Given the description of an element on the screen output the (x, y) to click on. 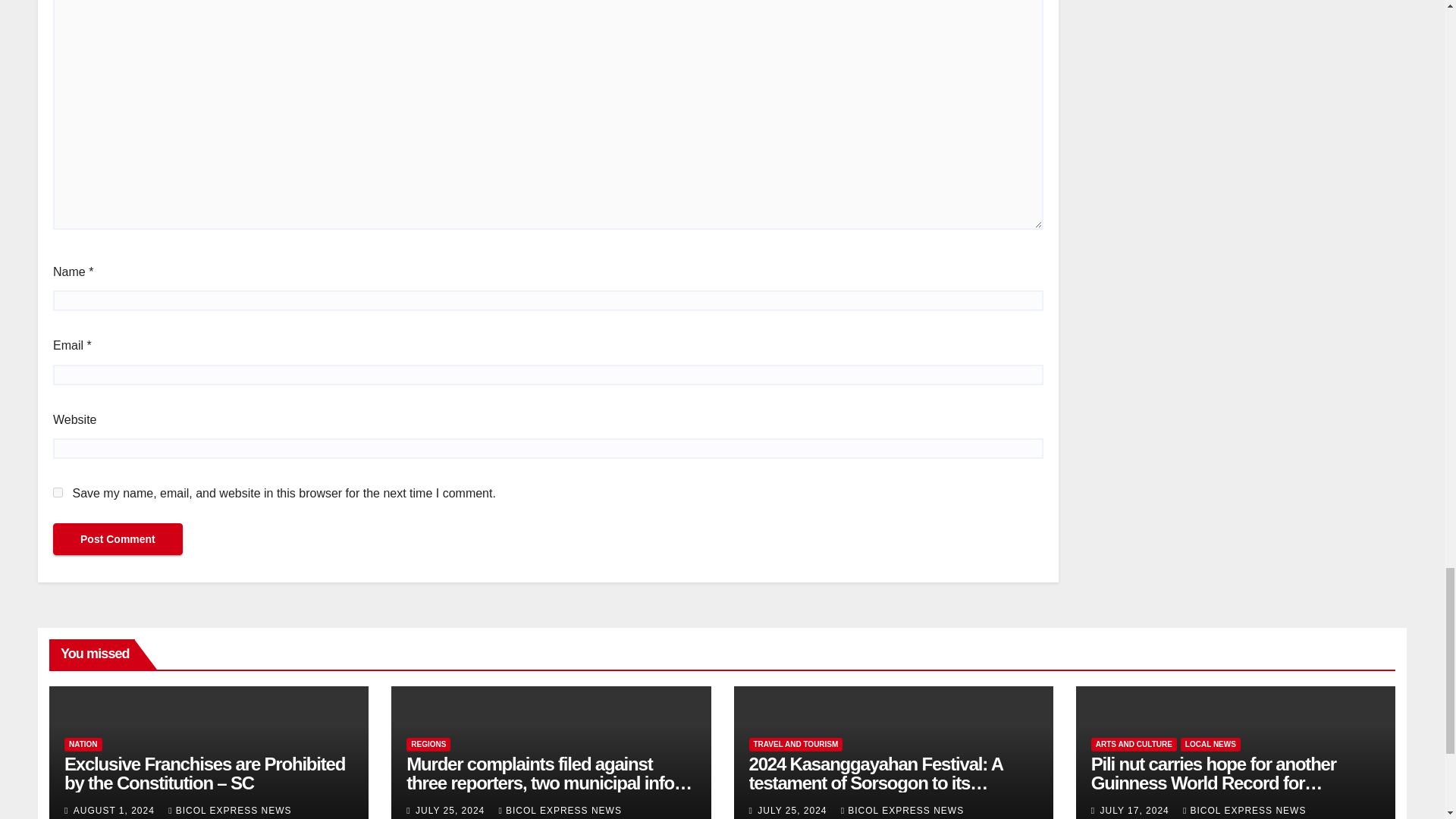
yes (57, 492)
Post Comment (117, 539)
